Given the description of an element on the screen output the (x, y) to click on. 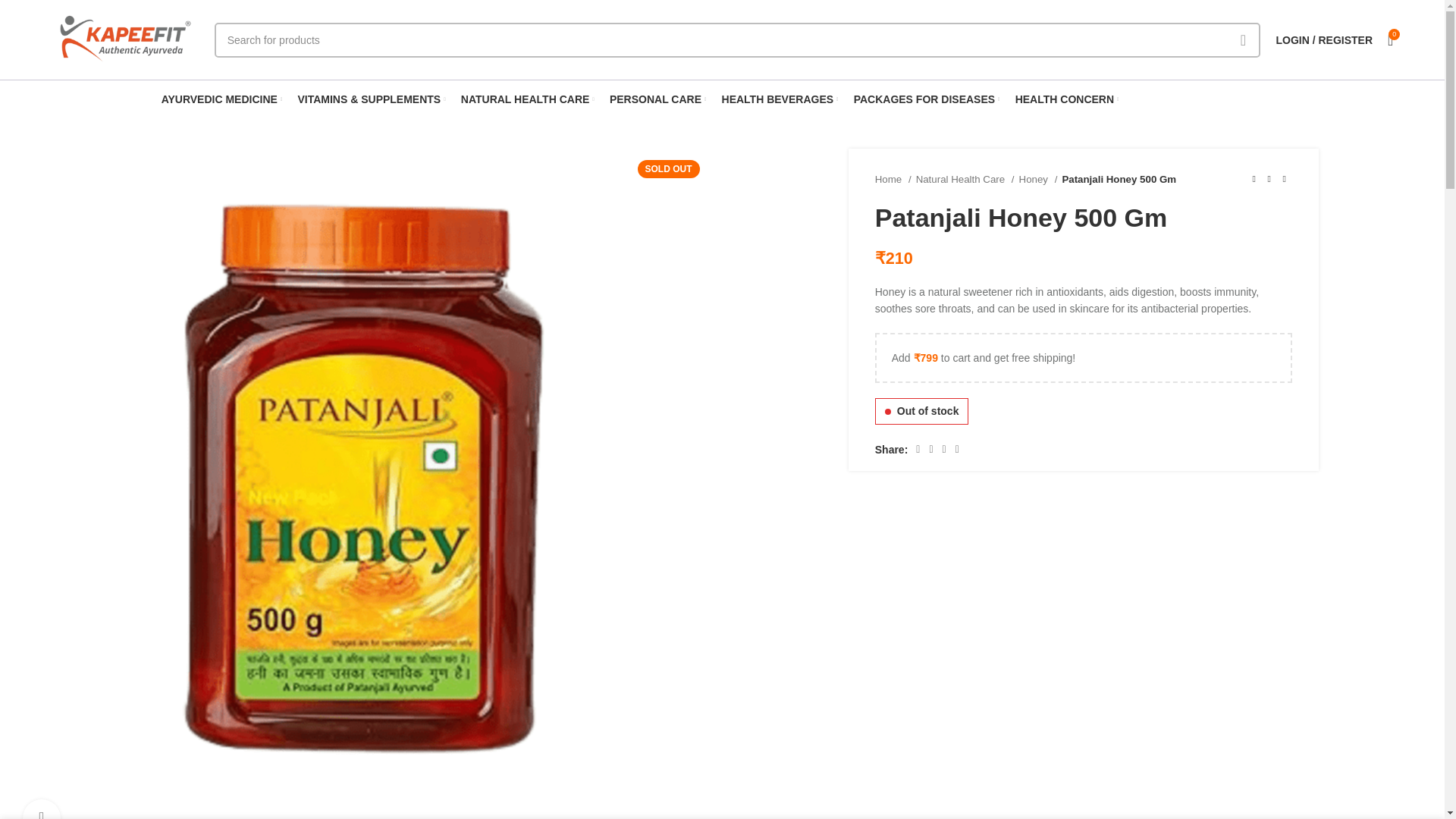
NATURAL HEALTH CARE (527, 99)
My account (1324, 39)
SEARCH (1242, 39)
AYURVEDIC MEDICINE (221, 99)
Log in (1247, 281)
Search for products (737, 39)
